Given the description of an element on the screen output the (x, y) to click on. 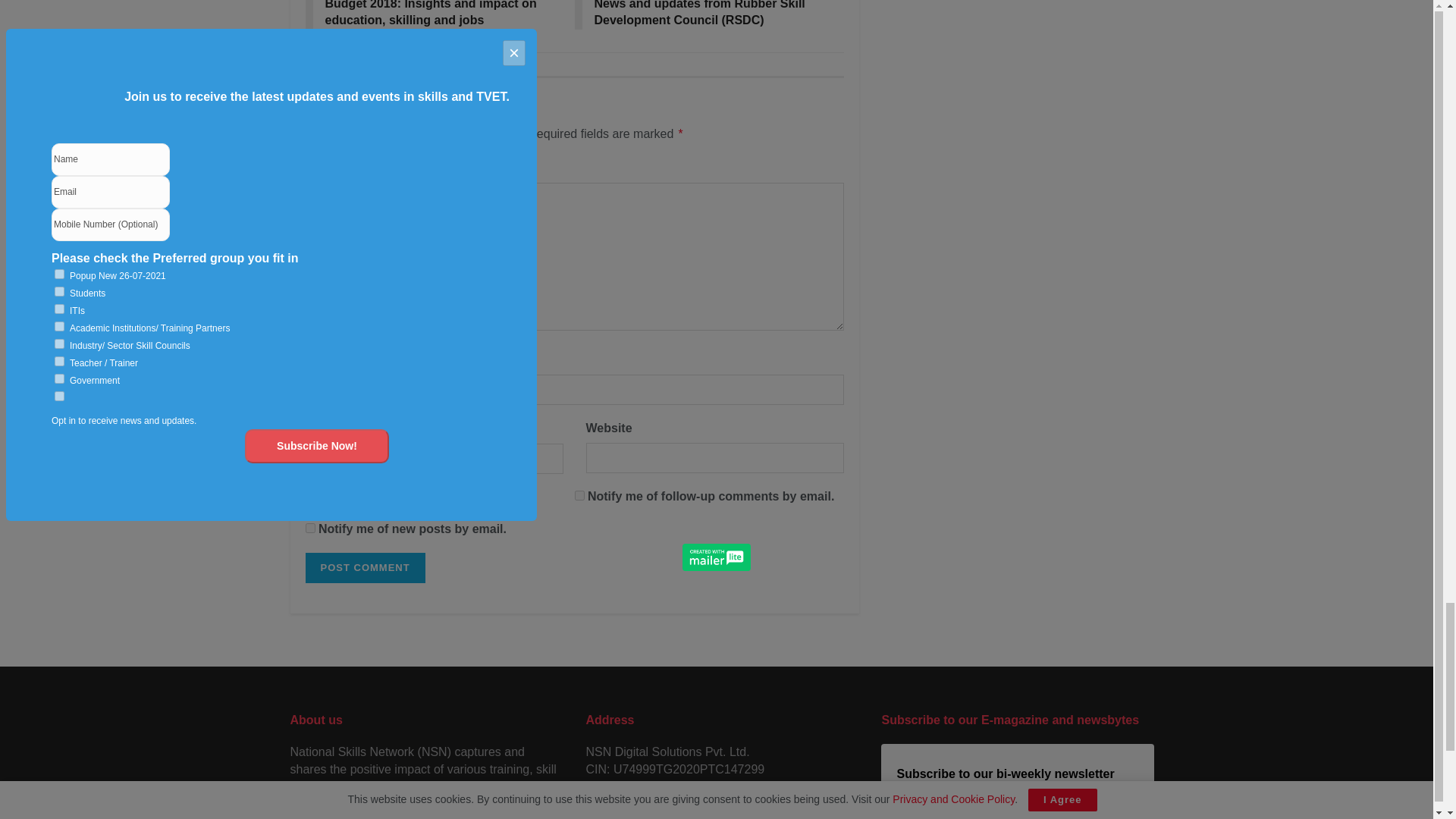
subscribe (580, 495)
Post Comment (364, 567)
subscribe (309, 528)
